Given the description of an element on the screen output the (x, y) to click on. 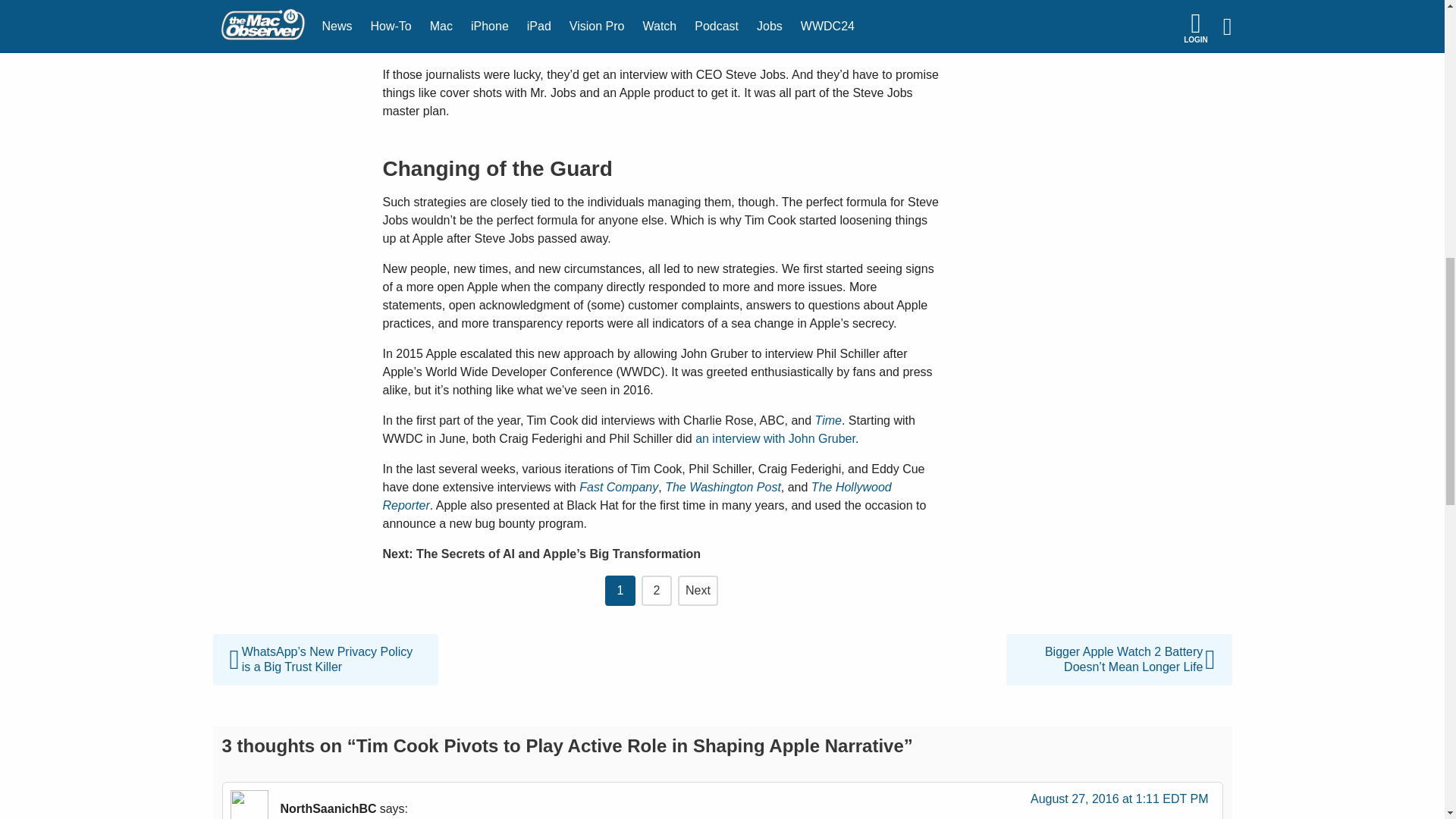
Time (828, 420)
The Washington Post (722, 486)
The Hollywood Reporter (636, 495)
2 (657, 581)
Next (697, 581)
August 27, 2016 at 1:11 EDT PM (1119, 802)
an interview with John Gruber (775, 438)
Fast Company (618, 486)
